Given the description of an element on the screen output the (x, y) to click on. 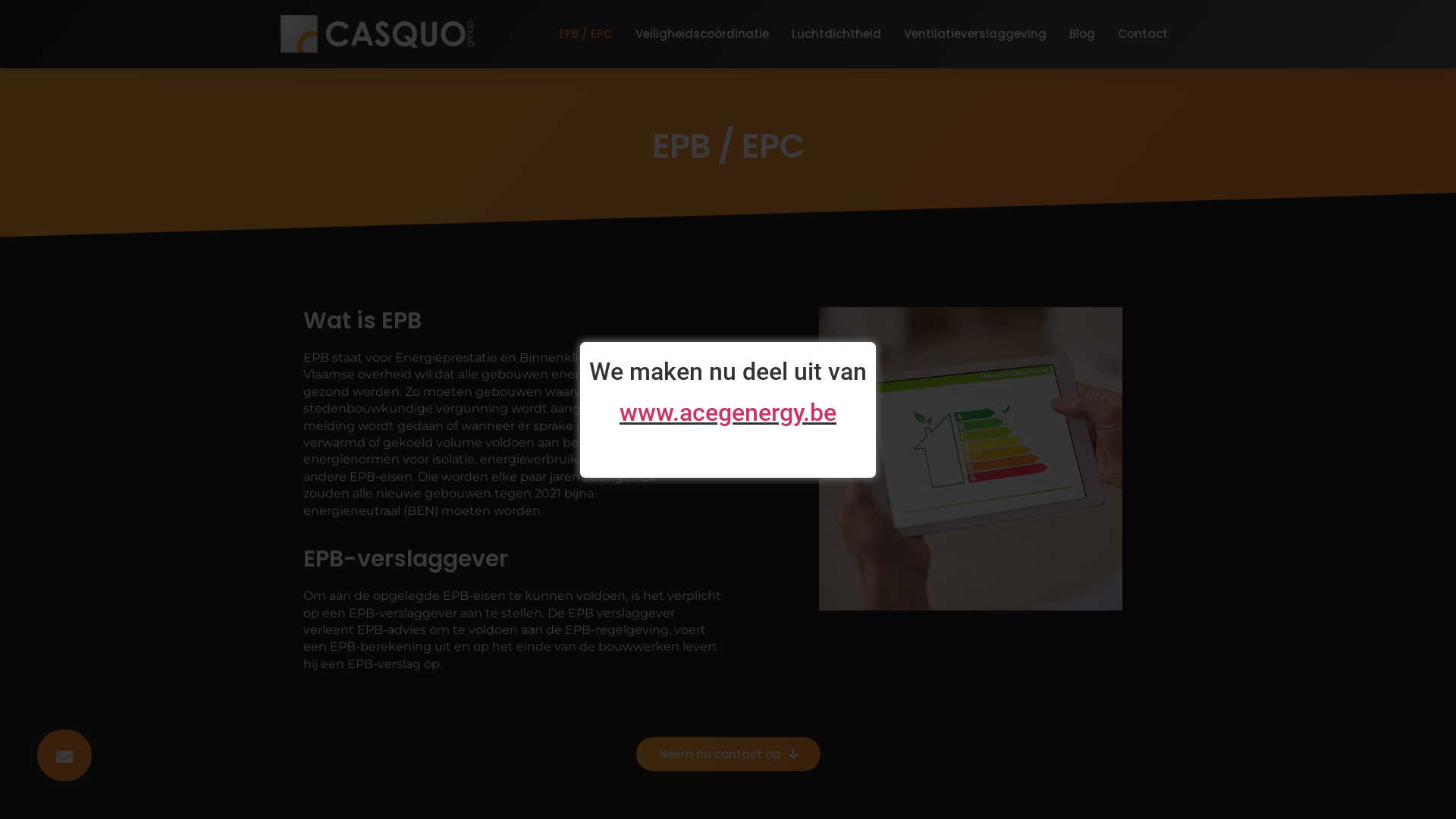
Blog Element type: text (1082, 34)
Contact Element type: text (1142, 34)
EPB / EPC Element type: text (585, 34)
Luchtdichtheid Element type: text (836, 34)
www.acegenergy.be Element type: text (727, 412)
Ventilatieverslaggeving Element type: text (974, 34)
Neem nu contact op Element type: text (727, 754)
